Given the description of an element on the screen output the (x, y) to click on. 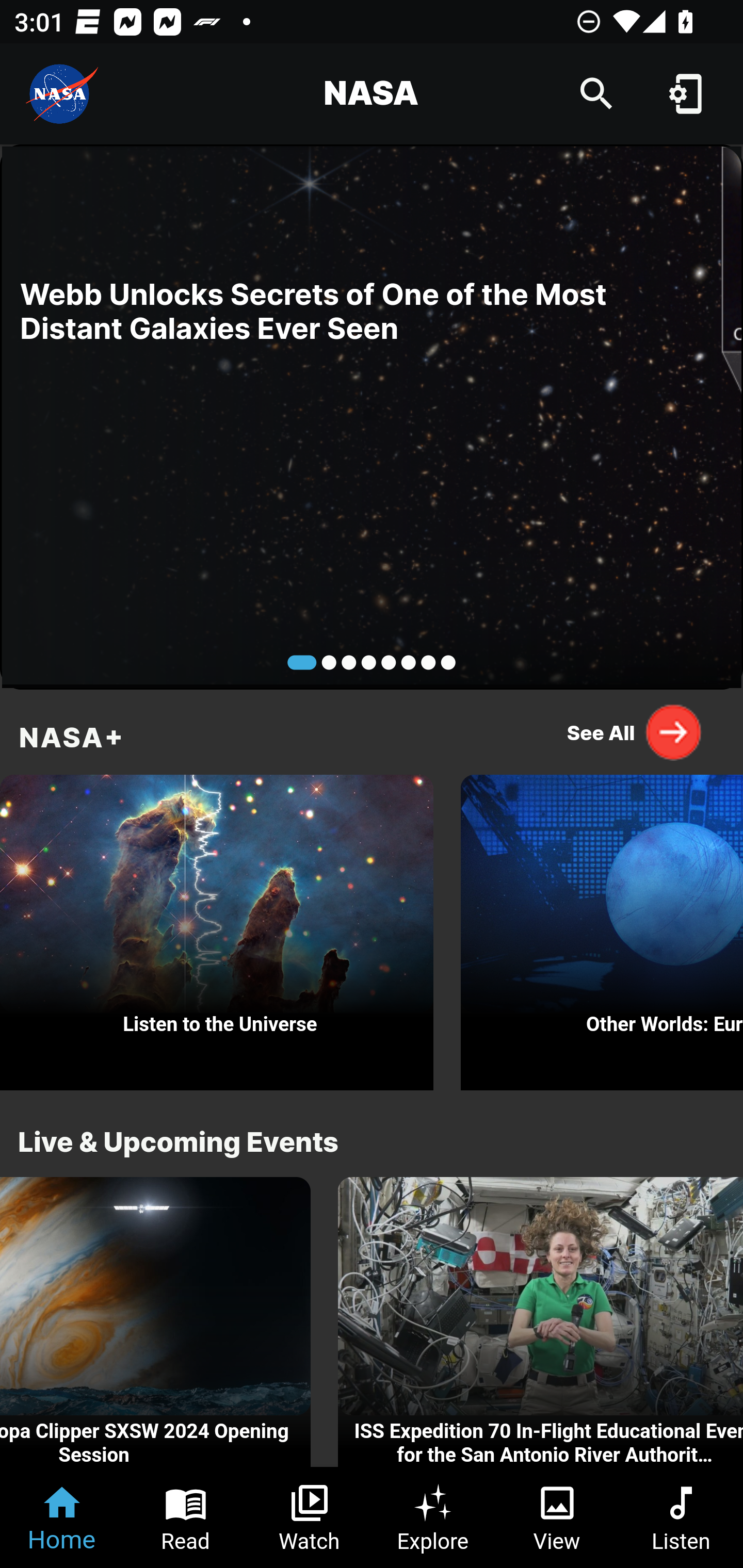
See All (634, 732)
Listen to the Universe (216, 927)
Other Worlds: Europa (601, 927)
NASA's Europa Clipper SXSW 2024 Opening Session (155, 1322)
Home
Tab 1 of 6 (62, 1517)
Read
Tab 2 of 6 (185, 1517)
Watch
Tab 3 of 6 (309, 1517)
Explore
Tab 4 of 6 (433, 1517)
View
Tab 5 of 6 (556, 1517)
Listen
Tab 6 of 6 (680, 1517)
